Given the description of an element on the screen output the (x, y) to click on. 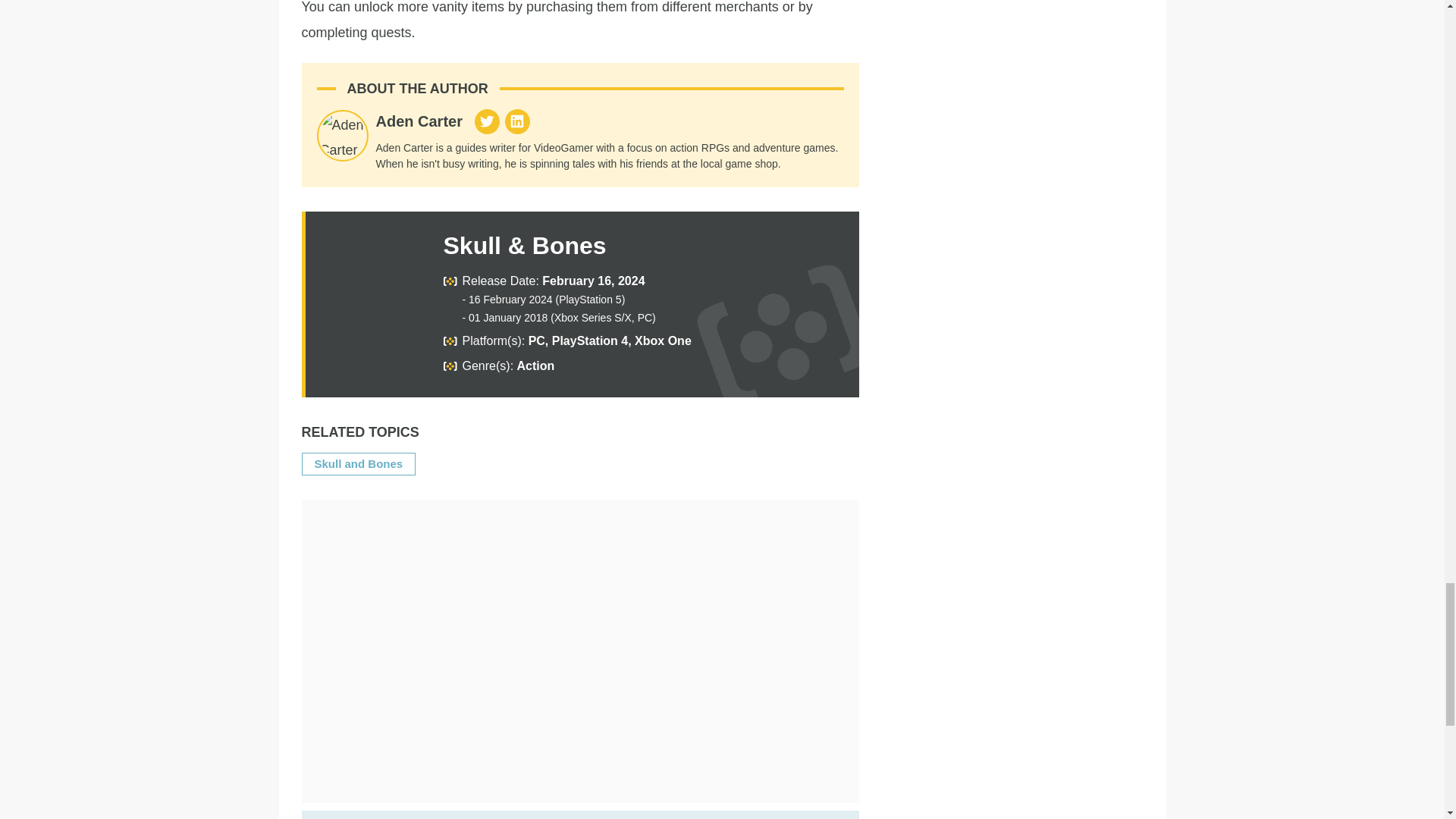
Aden Carter (419, 121)
Skull and Bones (358, 463)
